Given the description of an element on the screen output the (x, y) to click on. 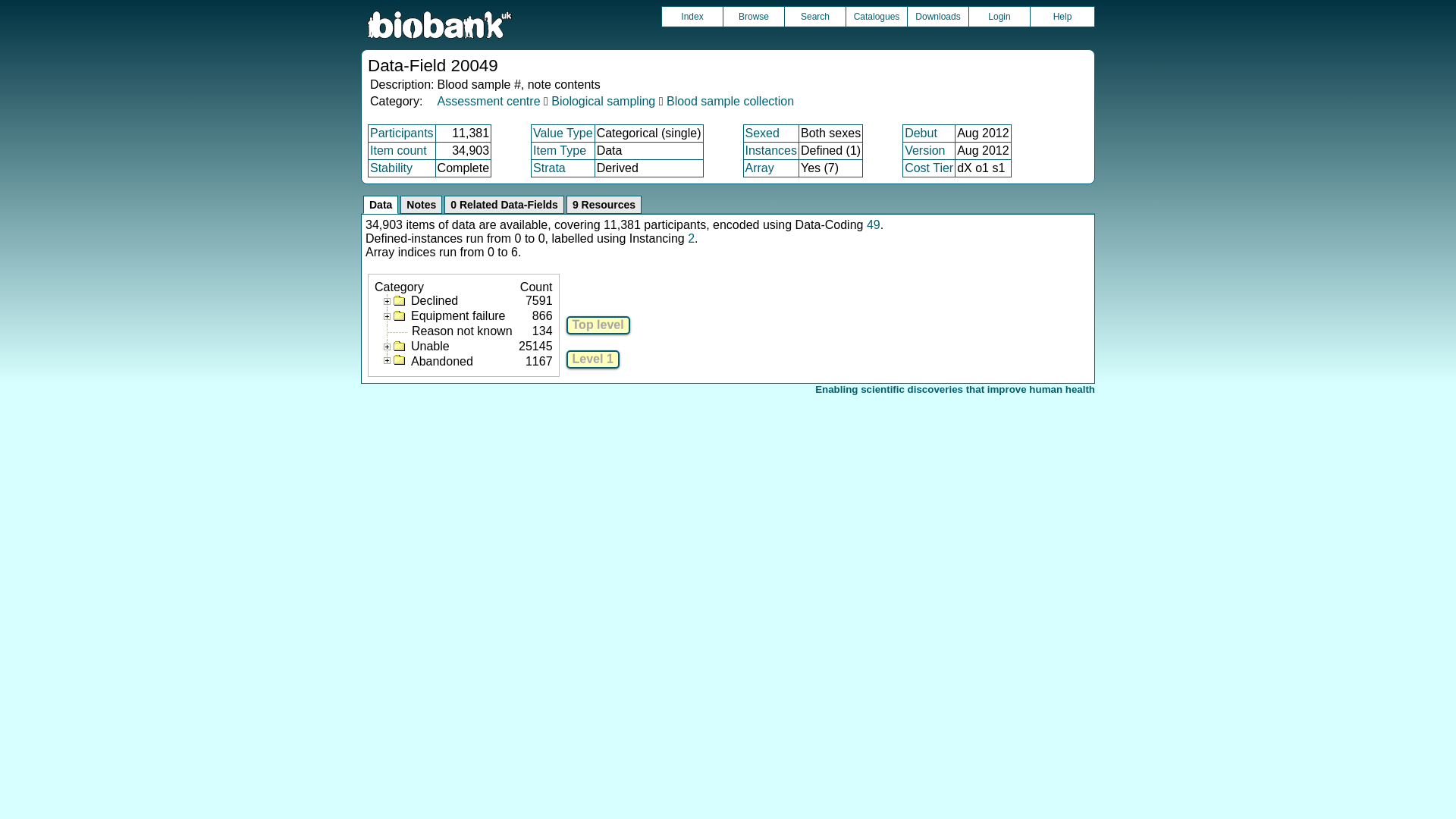
Stability (390, 167)
Instances (770, 150)
Value Type (562, 132)
Cost Tier (928, 167)
Participants (401, 132)
Notes (421, 204)
Sexed (761, 132)
Downloads (937, 16)
Top level (598, 325)
Assessment centre (488, 101)
Strata (549, 167)
Biological sampling (603, 101)
Browse (753, 16)
Version (924, 150)
Item Type (559, 150)
